Given the description of an element on the screen output the (x, y) to click on. 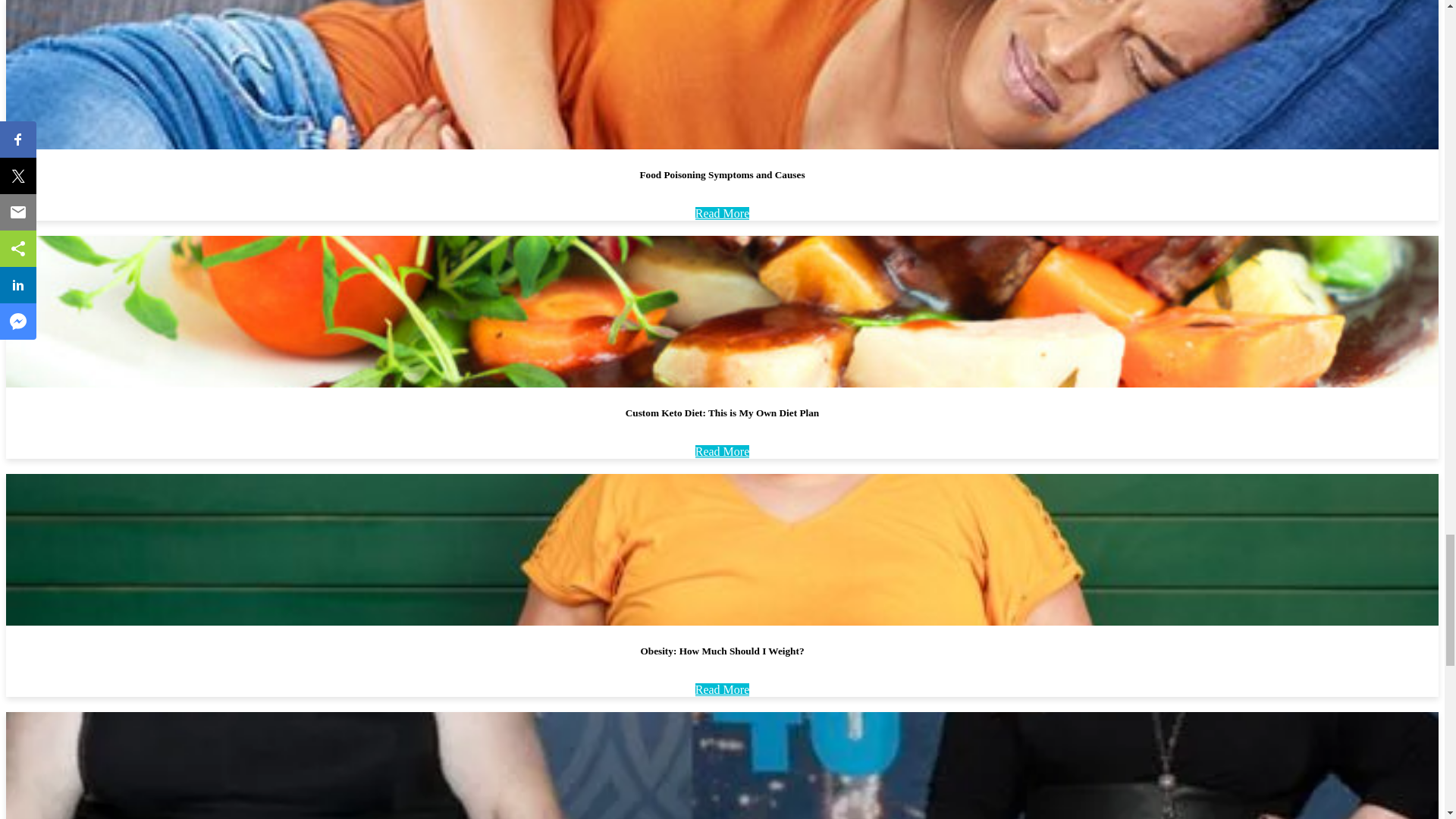
Read More (722, 689)
Read More (722, 451)
Read More (722, 213)
